Given the description of an element on the screen output the (x, y) to click on. 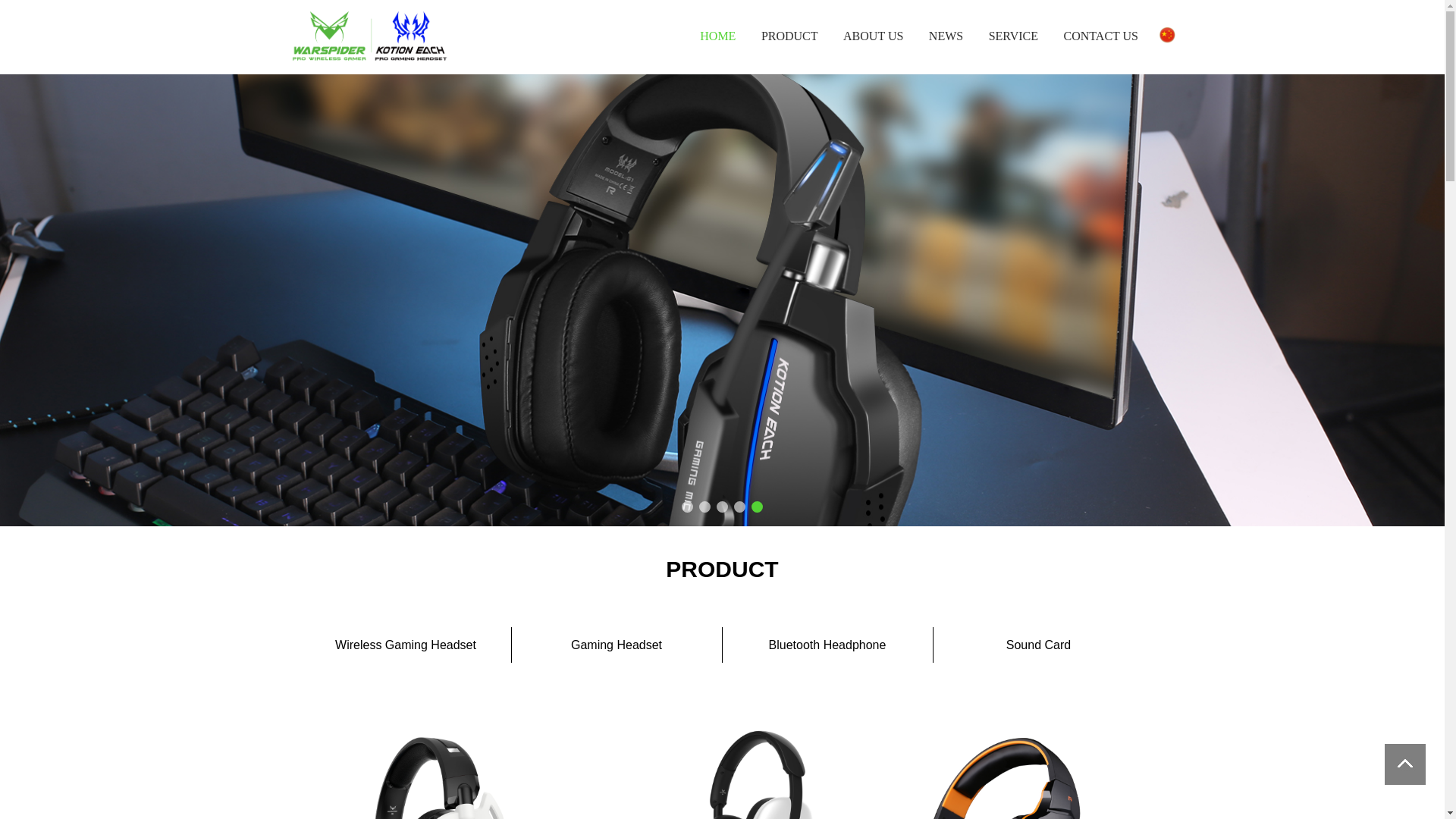
SERVICE Element type: text (1013, 36)
CONTACT US Element type: text (1100, 36)
Sound Card Element type: text (1037, 644)
Gaming Headset Element type: text (616, 644)
Wireless Gaming Headset Element type: text (405, 644)
PRODUCT Element type: text (789, 36)
ABOUT US Element type: text (872, 36)
Bluetooth Headphone Element type: text (826, 644)
NEWS Element type: text (945, 36)
HOME Element type: text (717, 36)
